Given the description of an element on the screen output the (x, y) to click on. 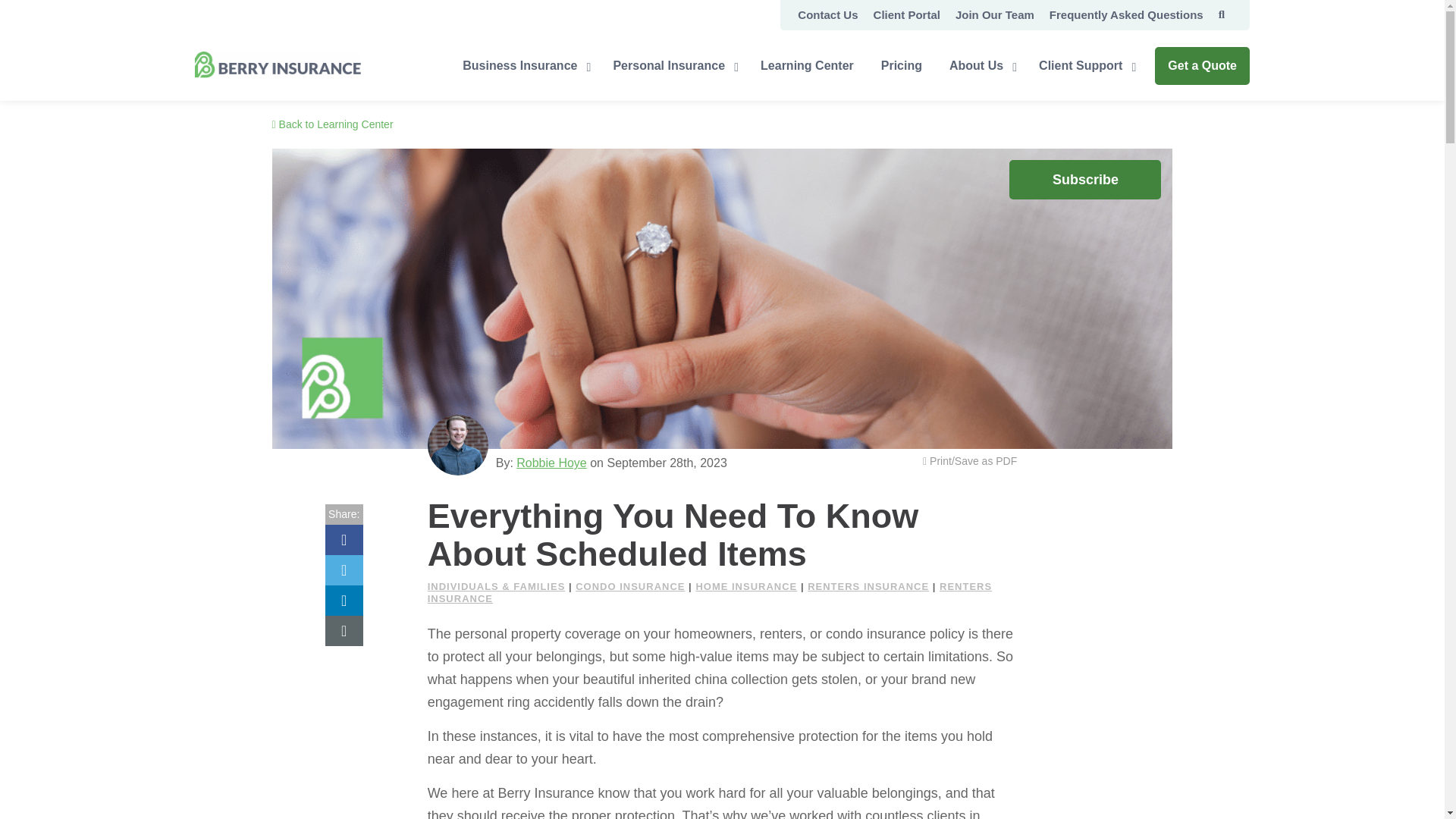
Contact Us (827, 14)
Learning Center (807, 64)
Share on Twitter (343, 570)
Share via Email (343, 630)
Share on Linkedin (343, 600)
Share on Facebook (343, 539)
Frequently Asked Questions (1126, 14)
Robbie Hoye (457, 444)
Get a Quote (1201, 65)
Client Portal (906, 14)
